Given the description of an element on the screen output the (x, y) to click on. 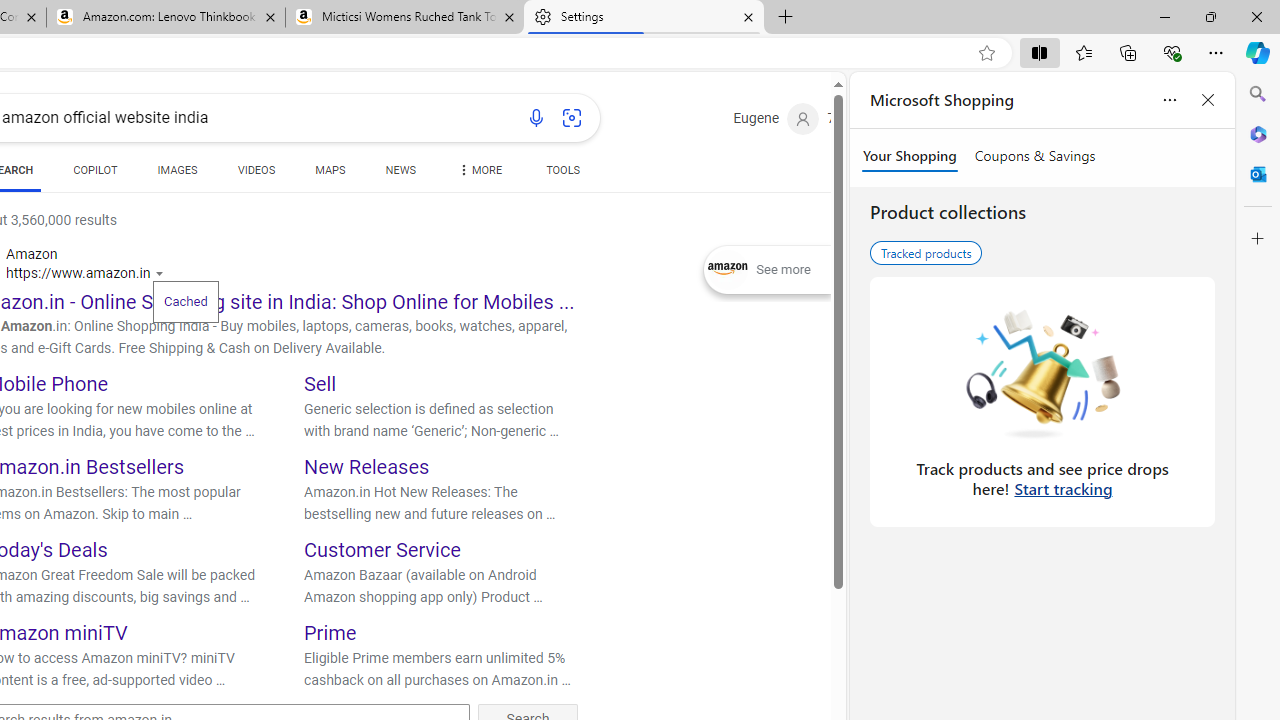
NEWS (400, 170)
Dropdown Menu (478, 170)
NEWS (400, 173)
Expand (727, 269)
